Given the description of an element on the screen output the (x, y) to click on. 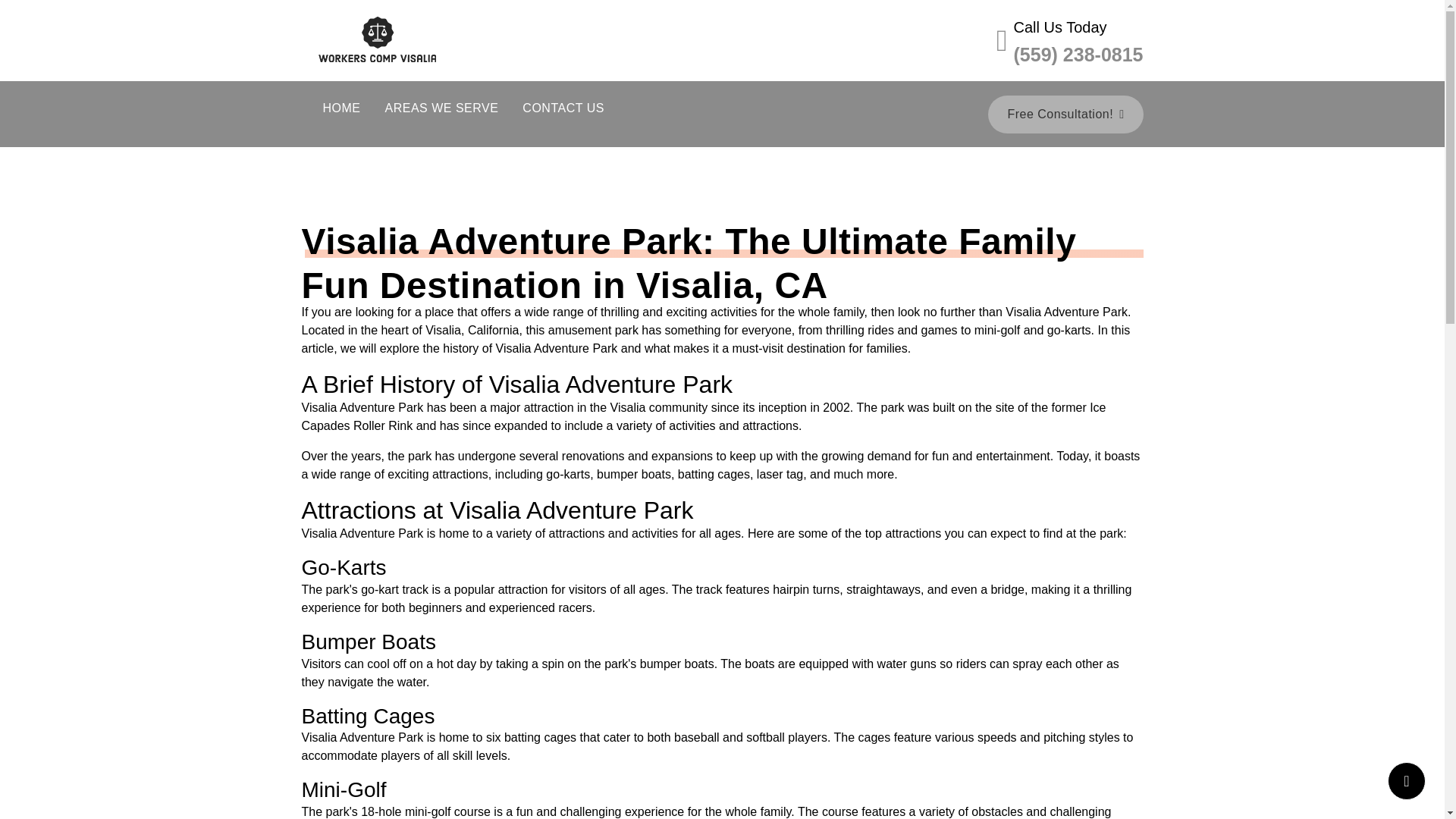
HOME (341, 108)
CONTACT US (563, 108)
Free Consultation! (1065, 114)
AREAS WE SERVE (441, 108)
